Given the description of an element on the screen output the (x, y) to click on. 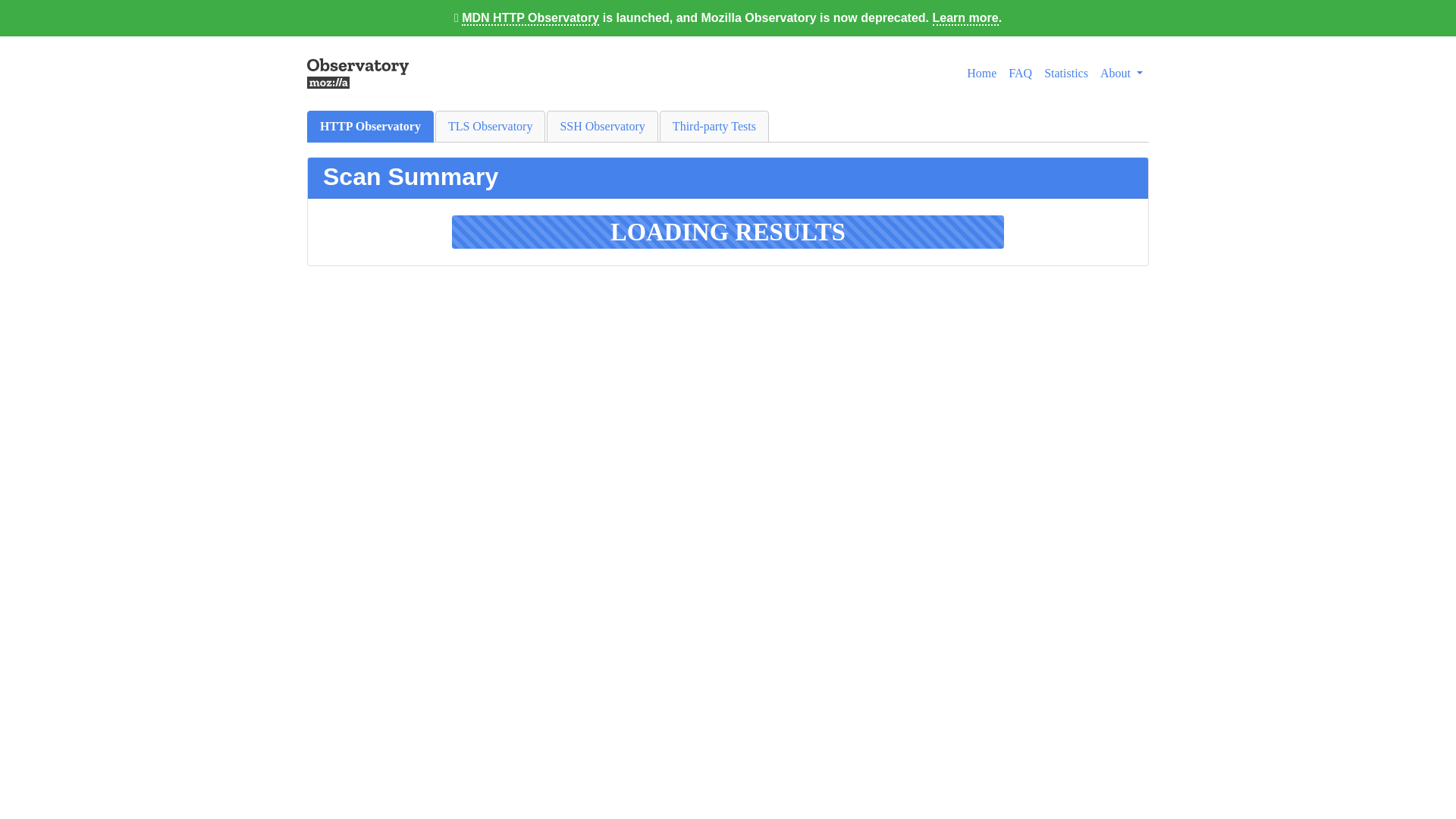
About (1121, 73)
Home (981, 73)
MDN HTTP Observatory (529, 18)
FAQ (1020, 73)
SSH Observatory (602, 126)
TLS Observatory (490, 126)
Learn more (965, 18)
Third-party Tests (713, 126)
Statistics (1066, 73)
HTTP Observatory (370, 126)
